Given the description of an element on the screen output the (x, y) to click on. 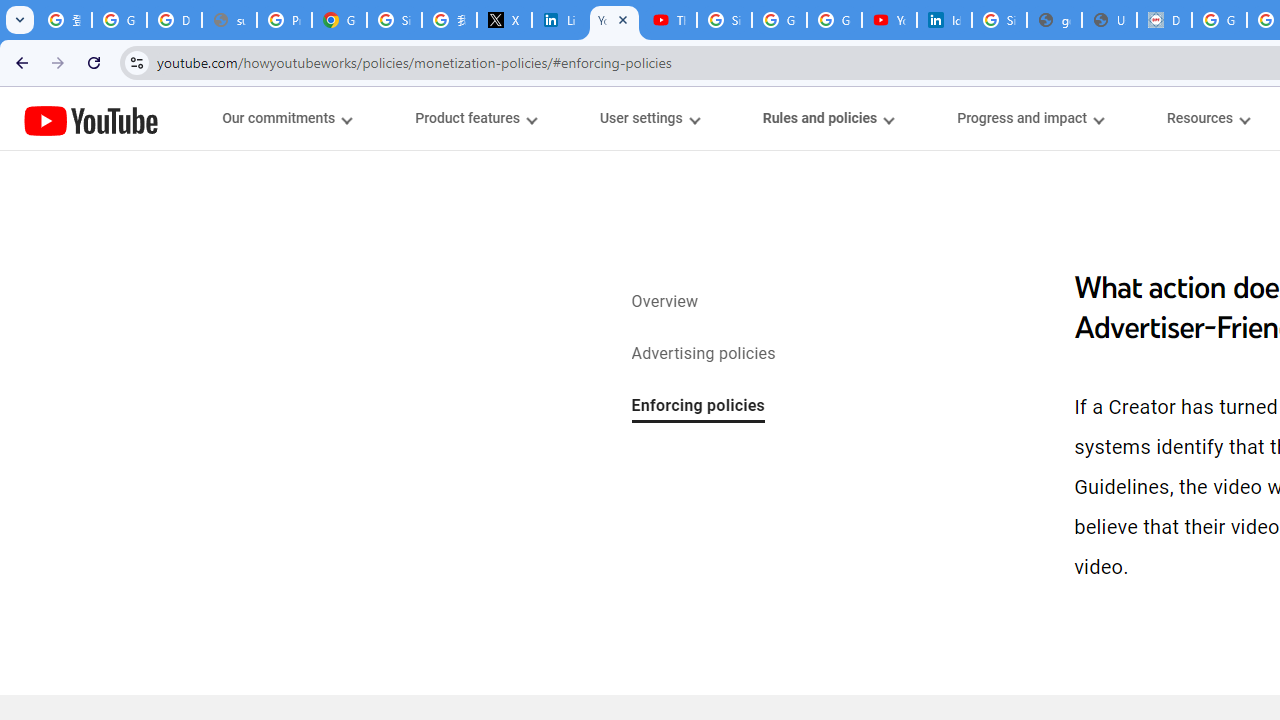
User settings menupopup (648, 118)
LinkedIn Privacy Policy (559, 20)
google_privacy_policy_en.pdf (1053, 20)
Rules and policies menupopup (827, 118)
Product features menupopup (475, 118)
YouTube (91, 120)
